Given the description of an element on the screen output the (x, y) to click on. 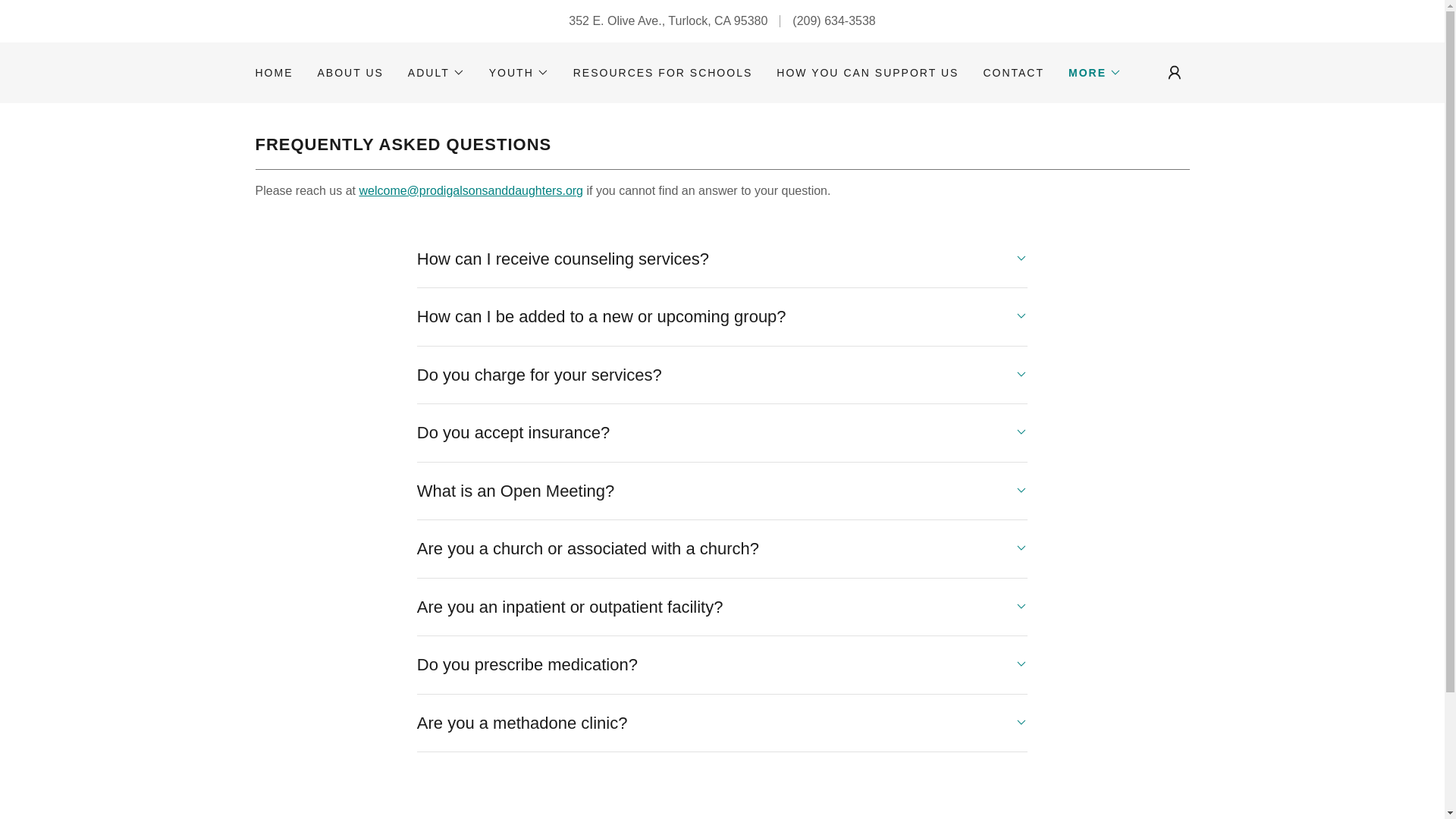
HOW YOU CAN SUPPORT US (866, 72)
YOUTH (518, 72)
ADULT (435, 72)
HOME (273, 72)
MORE (1094, 72)
ABOUT US (350, 72)
CONTACT (1013, 72)
RESOURCES FOR SCHOOLS (663, 72)
